Given the description of an element on the screen output the (x, y) to click on. 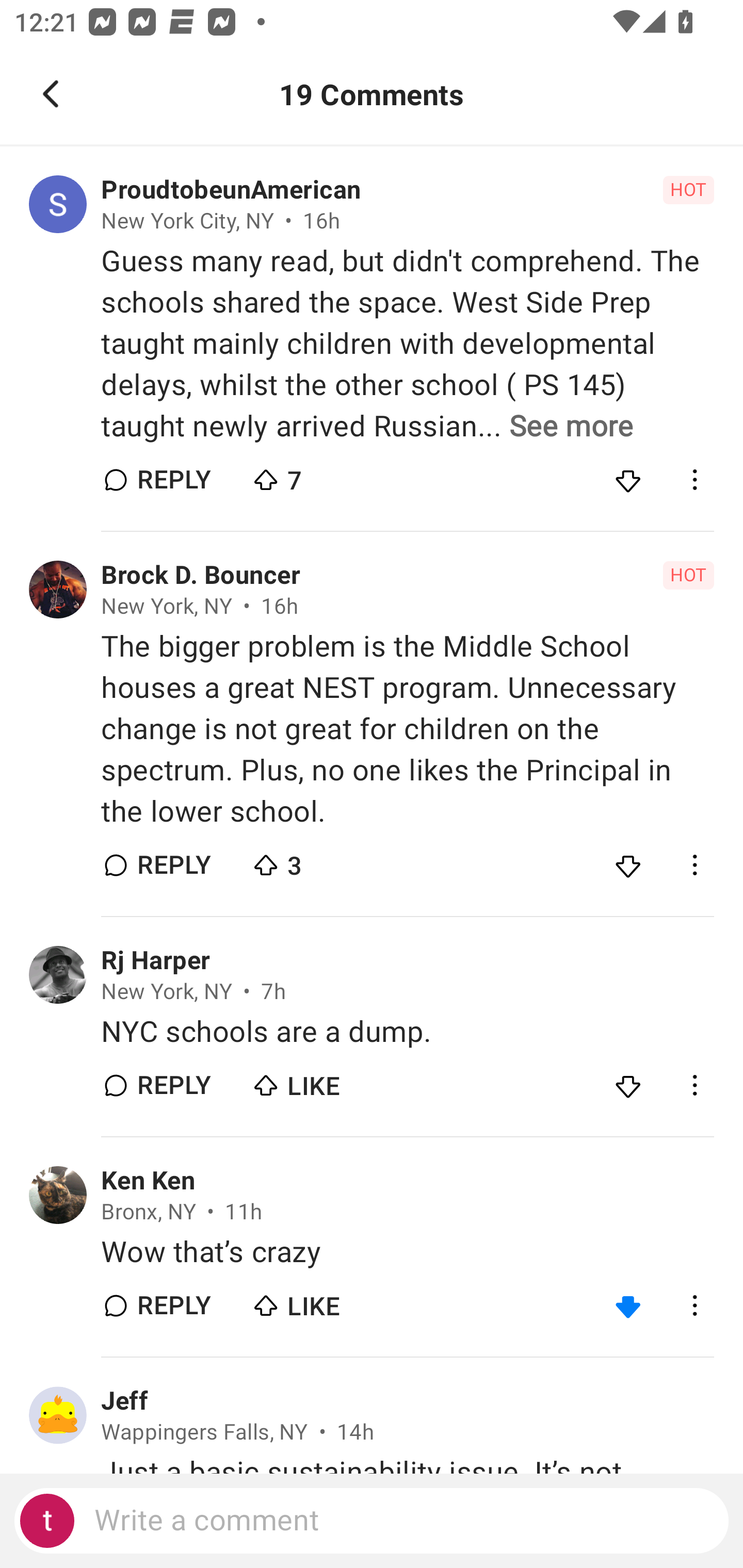
Navigate up (50, 93)
ProudtobeunAmerican (231, 190)
7 (320, 475)
REPLY (173, 480)
Brock D. Bouncer (200, 575)
3 (320, 860)
REPLY (173, 864)
Rj Harper (155, 960)
NYC schools are a dump. (407, 1031)
LIKE (320, 1080)
REPLY (173, 1085)
Ken Ken (148, 1180)
Wow that’s crazy (407, 1252)
LIKE (320, 1301)
REPLY (173, 1305)
Jeff (124, 1400)
Write a comment (371, 1520)
